Given the description of an element on the screen output the (x, y) to click on. 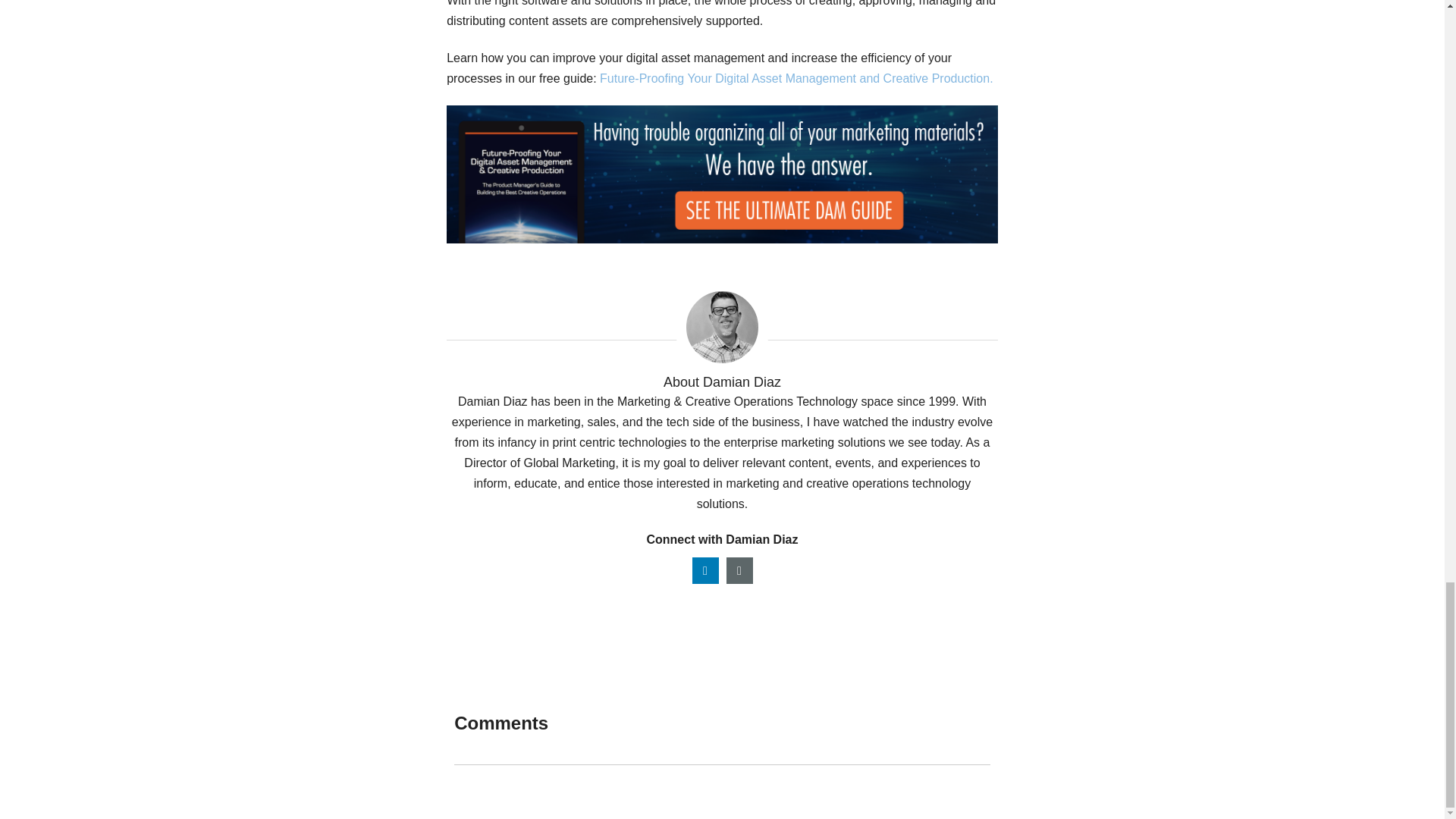
Damian Diaz (722, 327)
